Given the description of an element on the screen output the (x, y) to click on. 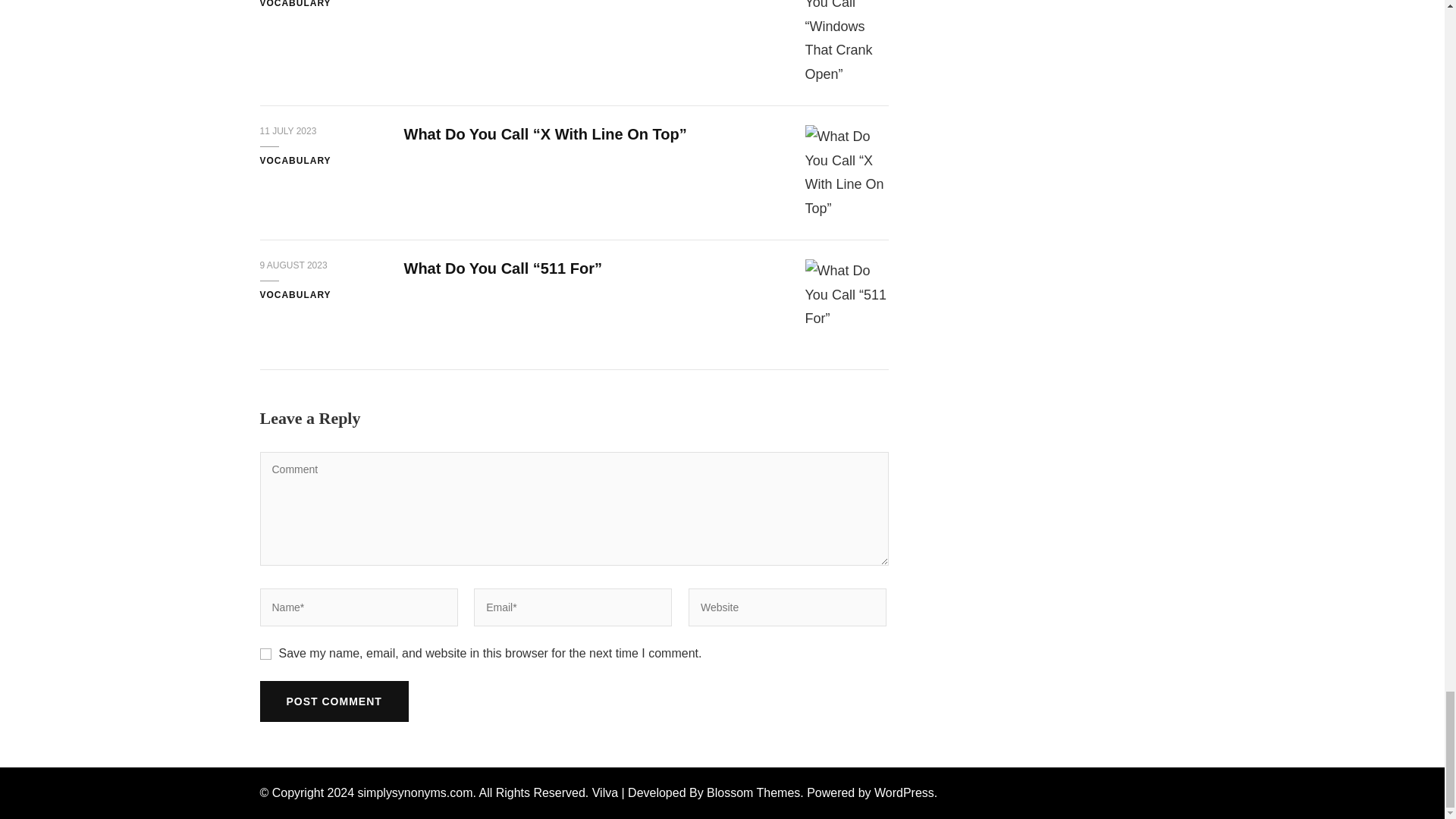
9 AUGUST 2023 (292, 265)
simplysynonyms.com (415, 792)
VOCABULARY (294, 295)
Post Comment (333, 700)
VOCABULARY (294, 161)
11 JULY 2023 (287, 131)
Blossom Themes (752, 792)
Post Comment (333, 700)
VOCABULARY (294, 5)
